Given the description of an element on the screen output the (x, y) to click on. 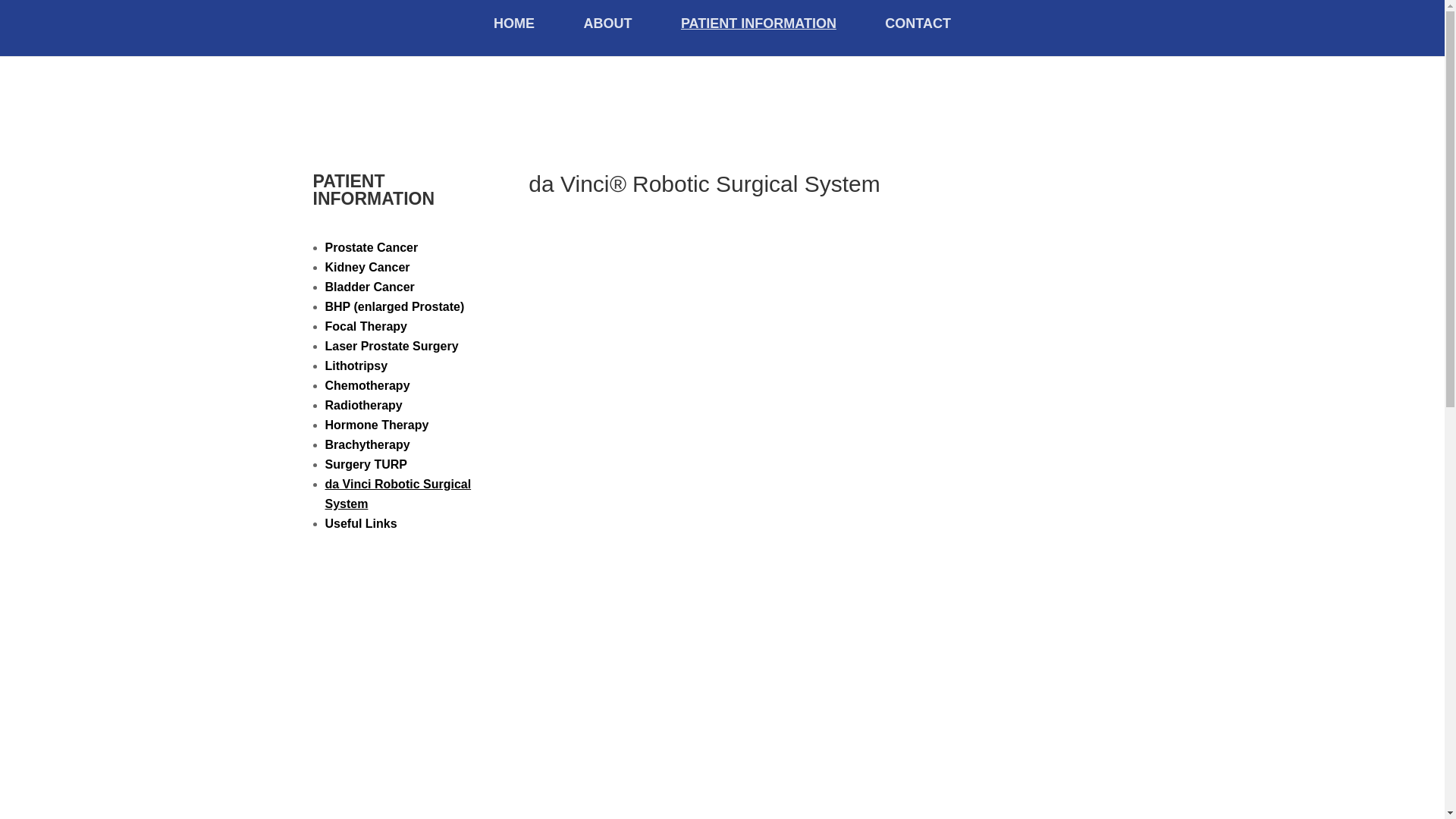
Kidney Cancer (366, 267)
Chemotherapy (366, 385)
PATIENT INFORMATION (758, 37)
Hormone Therapy (376, 424)
Radiotherapy (362, 404)
Focal Therapy (365, 326)
Bladder Cancer (368, 286)
Laser Prostate Surgery (391, 345)
da Vinci Robotic Surgical System (397, 493)
CONTACT (917, 37)
Surgery TURP (365, 463)
Prostate Cancer (370, 246)
ABOUT (607, 37)
Brachytherapy (366, 444)
